Given the description of an element on the screen output the (x, y) to click on. 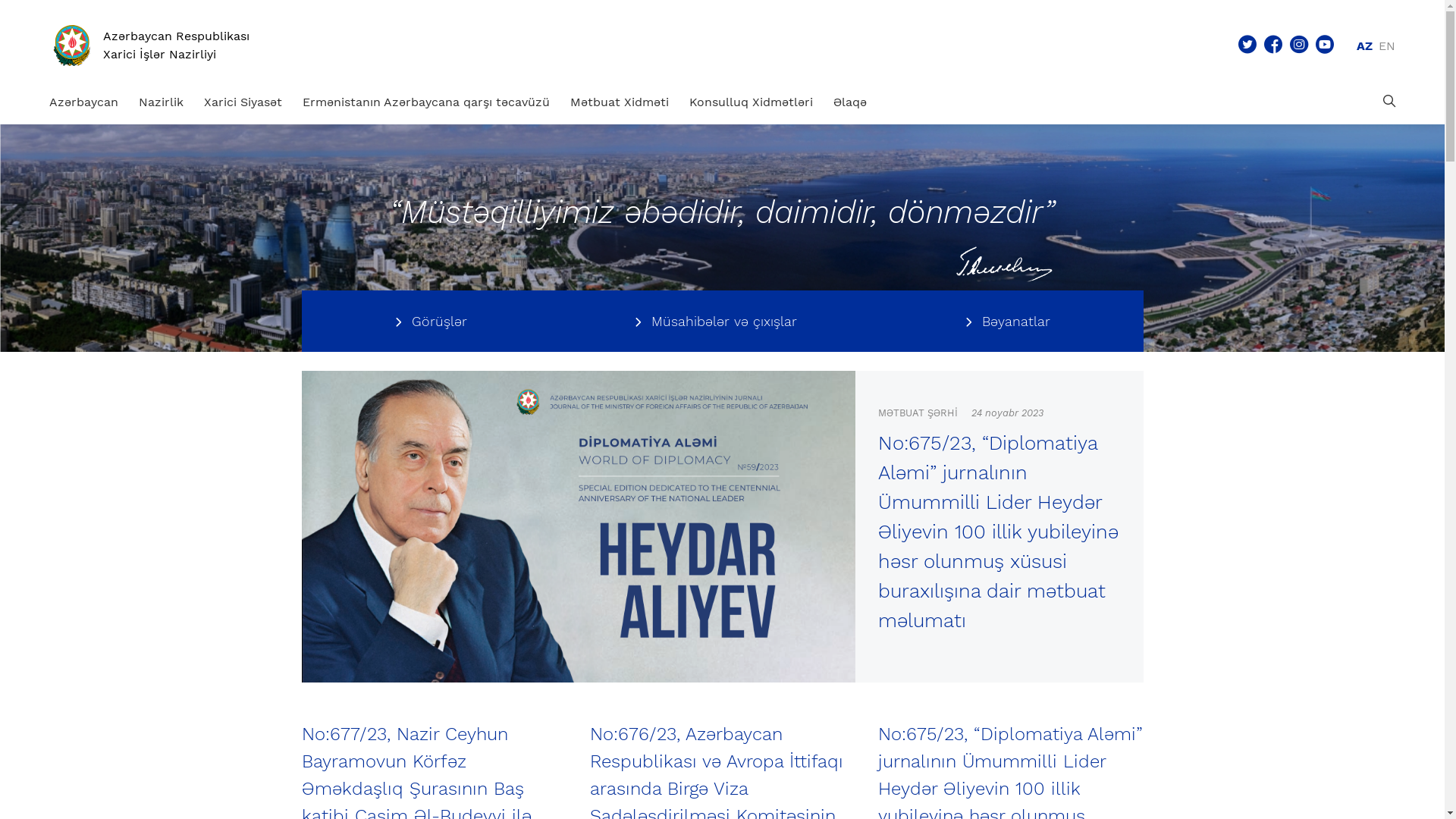
Sosial menu - Twitter Element type: hover (1247, 45)
Sosial menu - Facebook Element type: hover (1273, 45)
Nazirlik Element type: text (160, 101)
EN Element type: text (1386, 44)
AZ Element type: text (1364, 44)
Sosial menu - Instagram Element type: hover (1298, 45)
Sosial menu - Youtube Element type: hover (1324, 45)
